Given the description of an element on the screen output the (x, y) to click on. 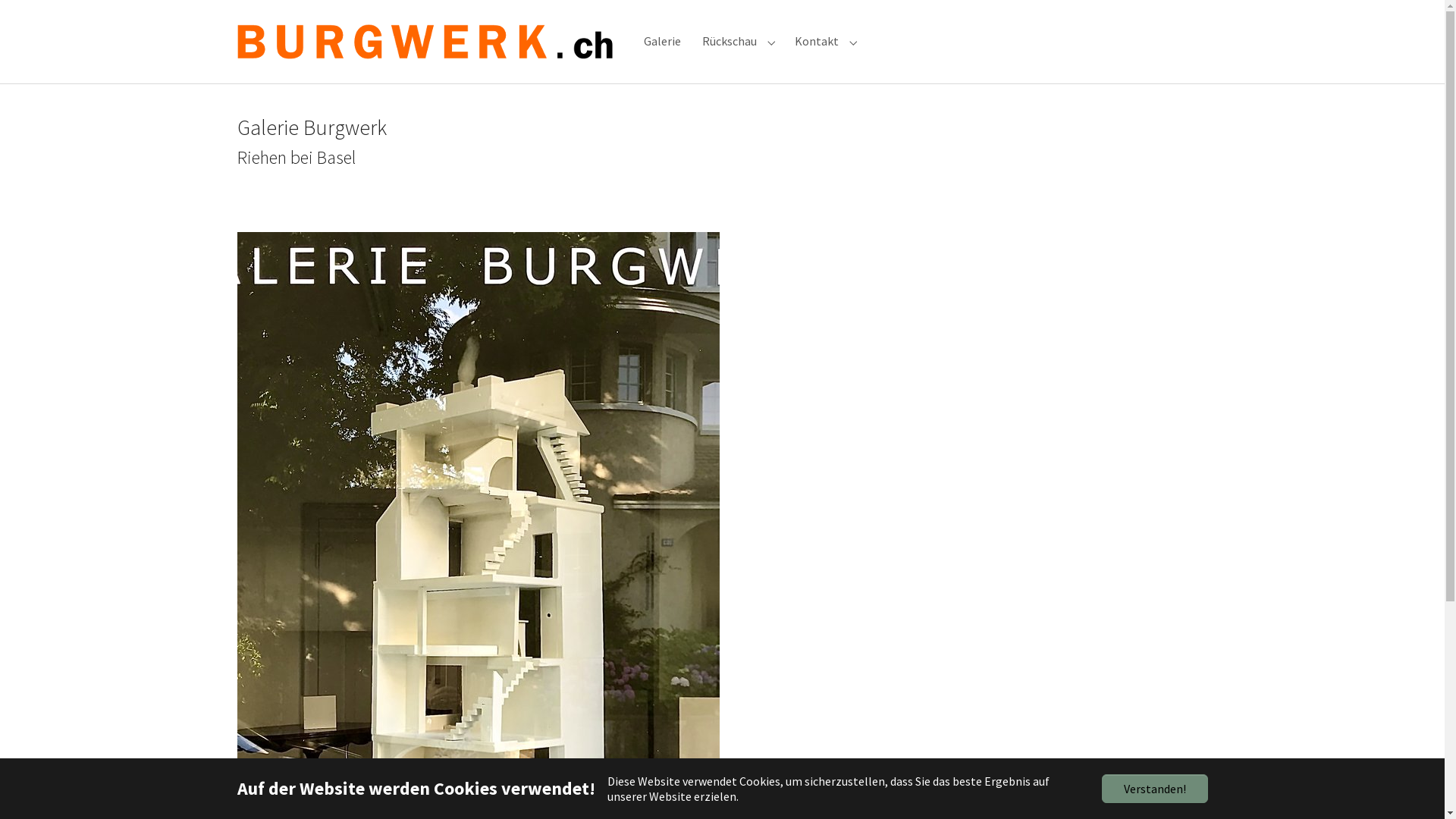
Verstanden! Element type: text (1154, 788)
Kontakt Element type: text (816, 41)
Galerie Element type: text (661, 41)
Submenu for "Kontakt" Element type: text (853, 41)
